Given the description of an element on the screen output the (x, y) to click on. 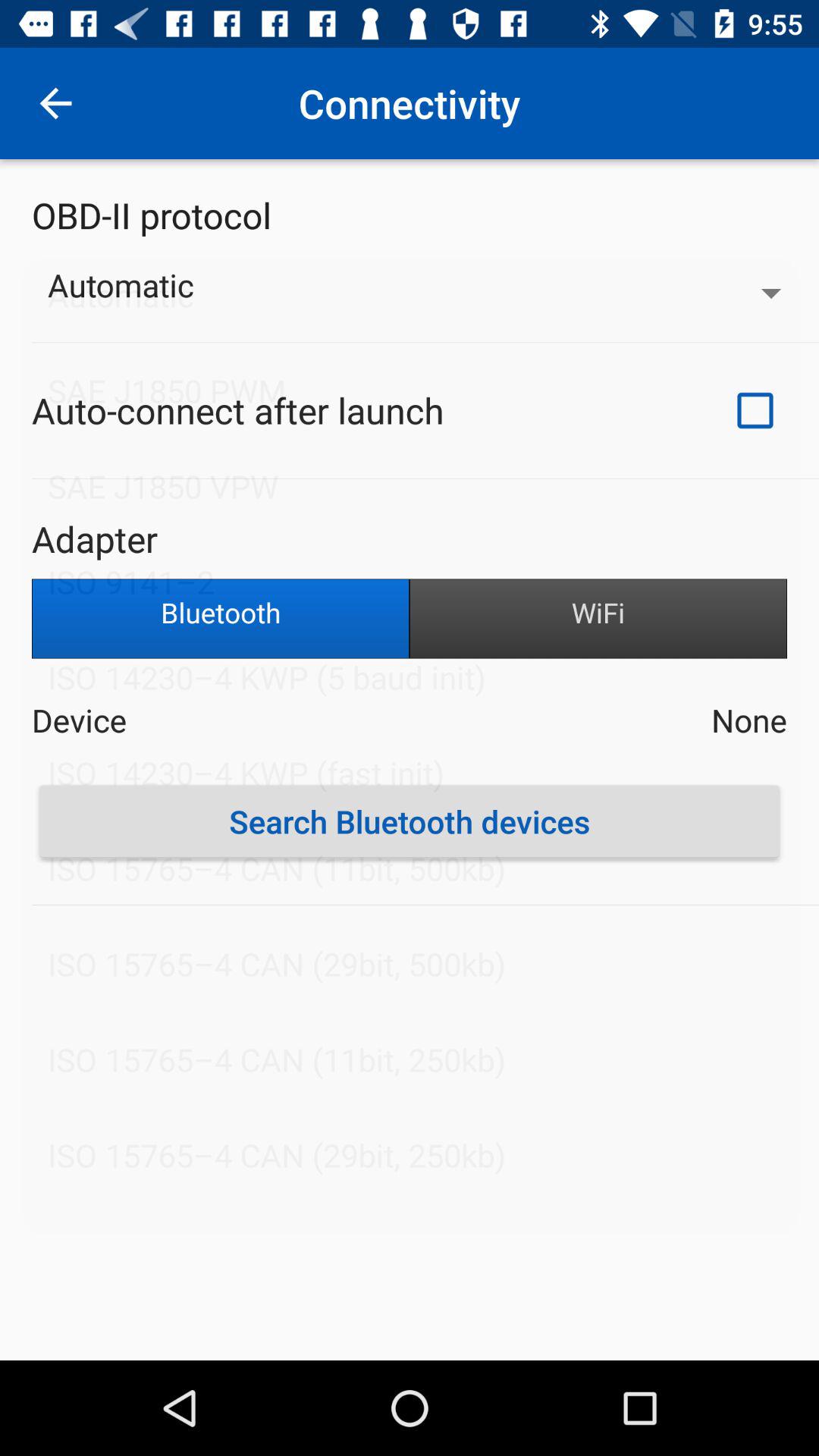
press the search bluetooth devices (409, 821)
